Given the description of an element on the screen output the (x, y) to click on. 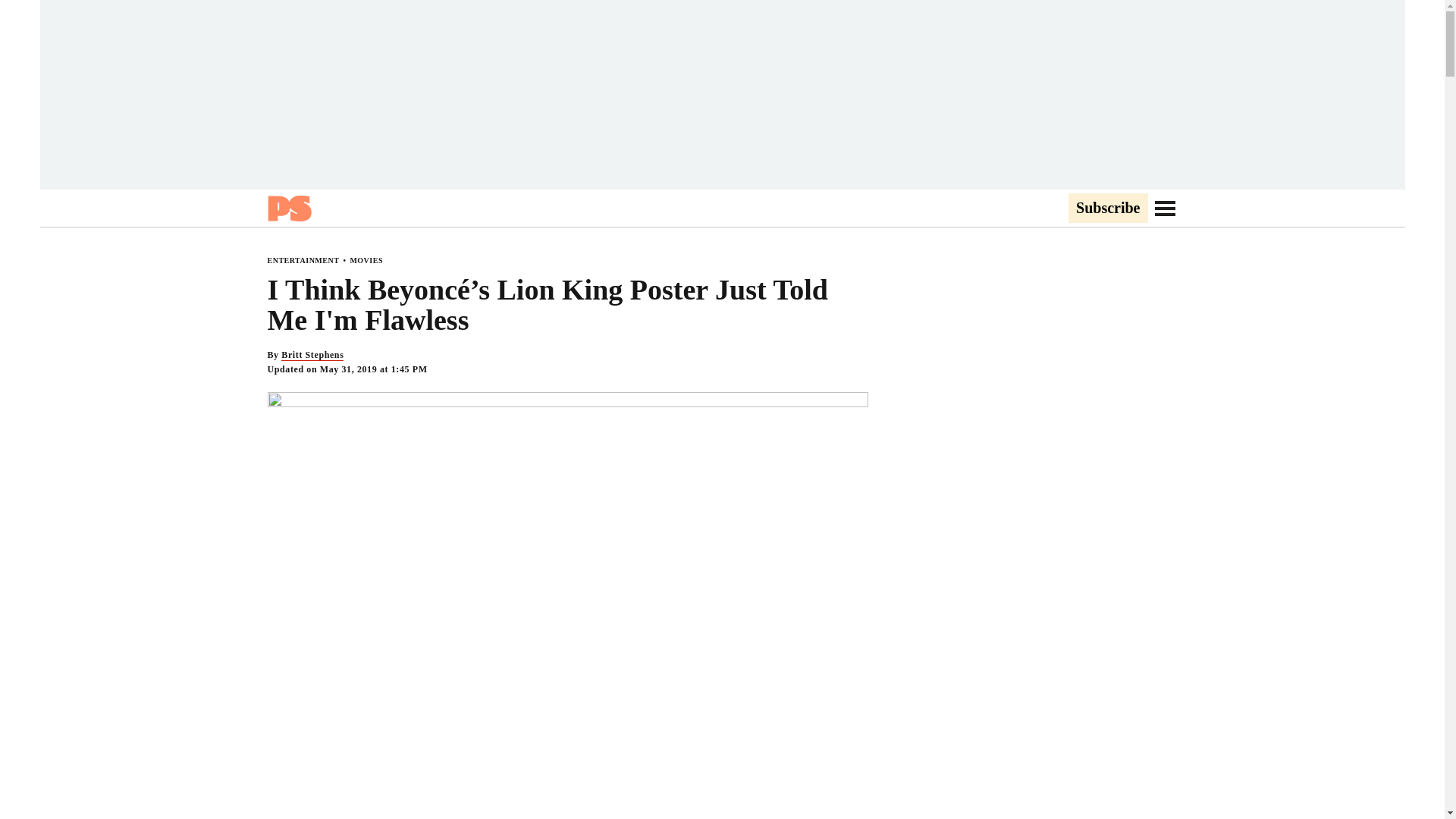
ENTERTAINMENT (302, 260)
Go to Navigation (1164, 207)
Popsugar (288, 208)
Go to Navigation (1164, 207)
MOVIES (365, 260)
Britt Stephens (312, 355)
Subscribe (1107, 208)
